Given the description of an element on the screen output the (x, y) to click on. 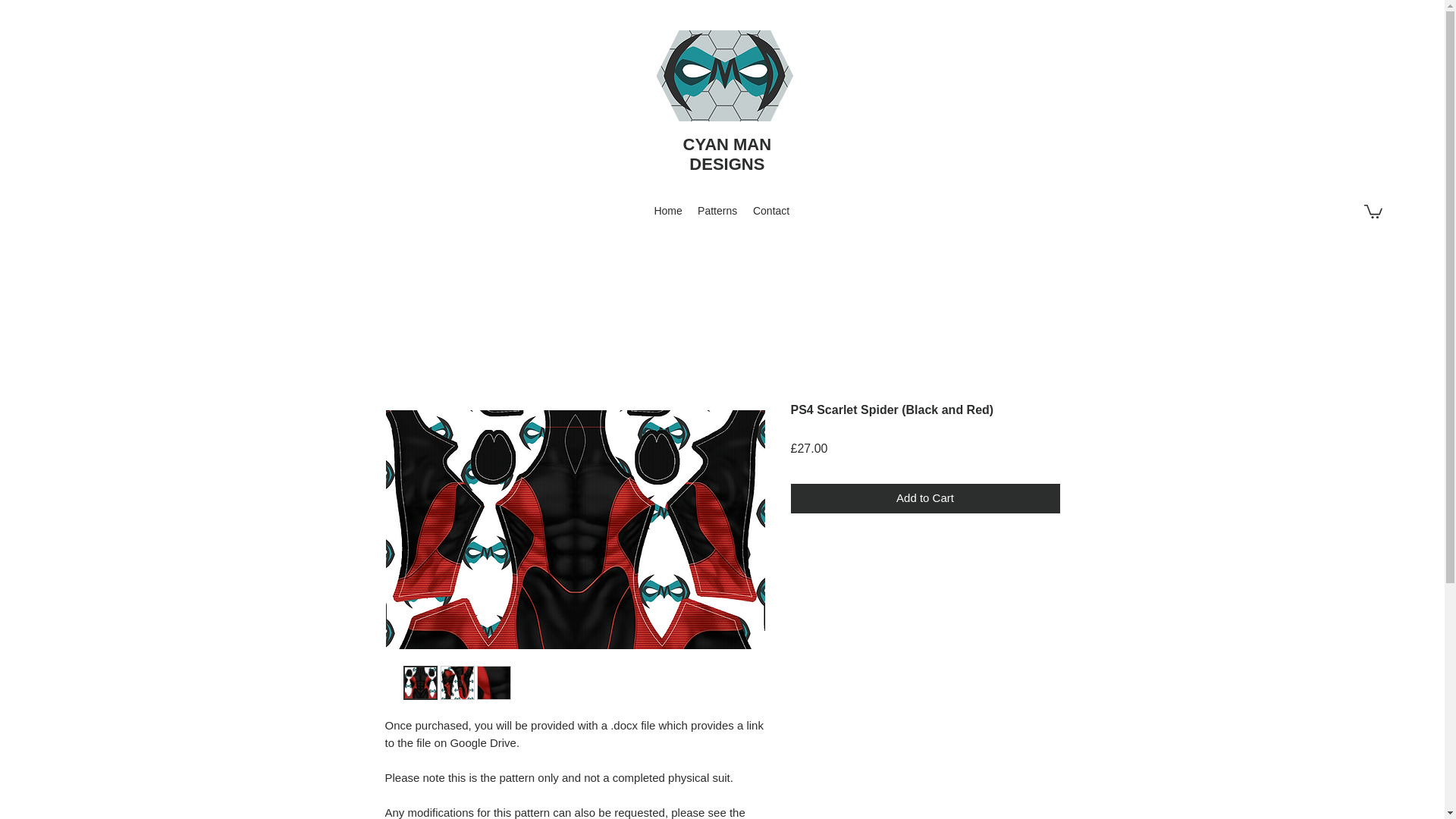
Add to Cart (924, 498)
Patterns (717, 210)
CYAN MAN DESIGNS (726, 154)
Home (668, 210)
Contact (770, 210)
